Given the description of an element on the screen output the (x, y) to click on. 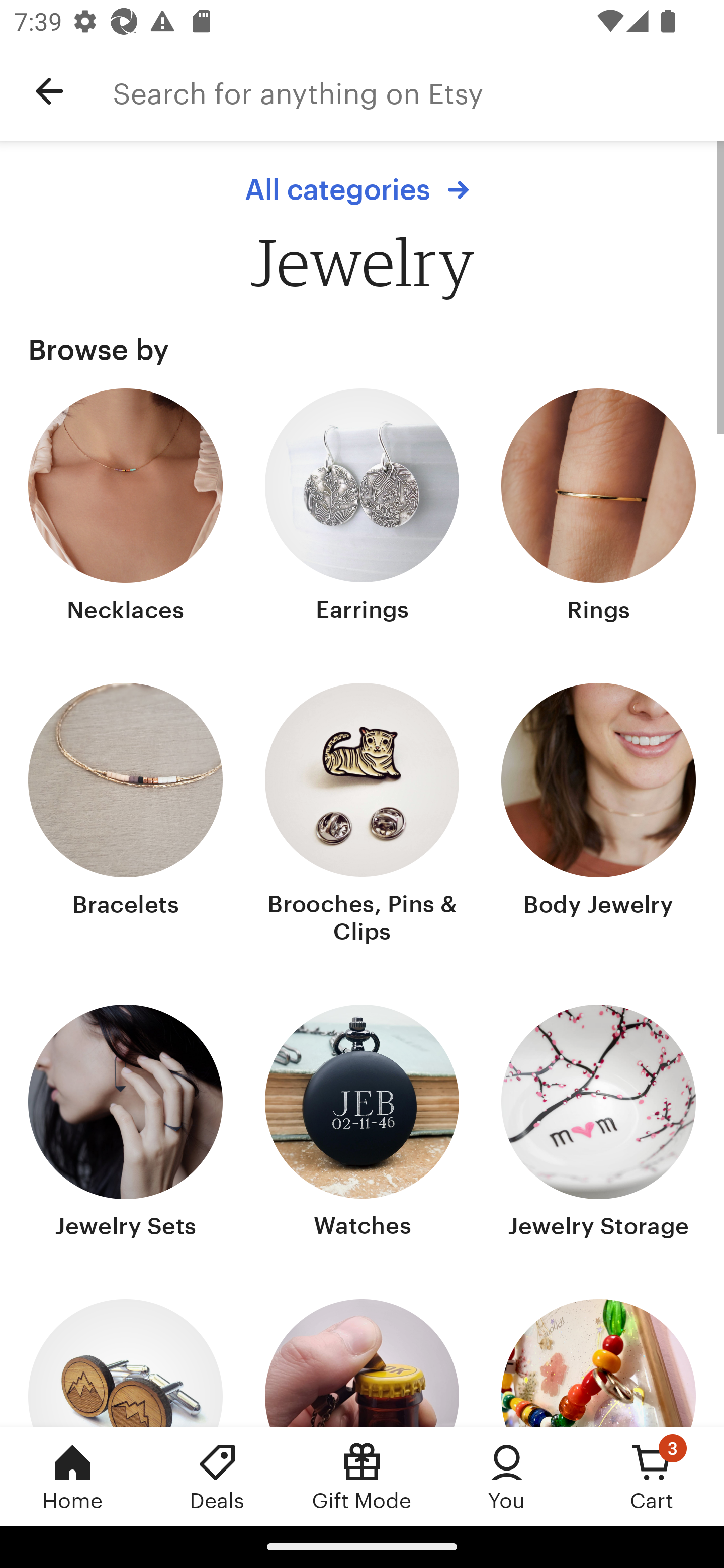
Navigate up (49, 91)
Search for anything on Etsy (418, 91)
All categories (361, 189)
Necklaces (125, 507)
Earrings (361, 507)
Rings (598, 507)
Bracelets (125, 815)
Brooches, Pins & Clips (361, 815)
Body Jewelry (598, 815)
Jewelry Sets (125, 1124)
Watches (361, 1124)
Jewelry Storage (598, 1124)
Cuff Links & Tie Clips (125, 1362)
Cremation & Memorial Jewelry (361, 1362)
Smart Jewelry (598, 1362)
Deals (216, 1475)
Gift Mode (361, 1475)
You (506, 1475)
Cart, 3 new notifications Cart (651, 1475)
